Given the description of an element on the screen output the (x, y) to click on. 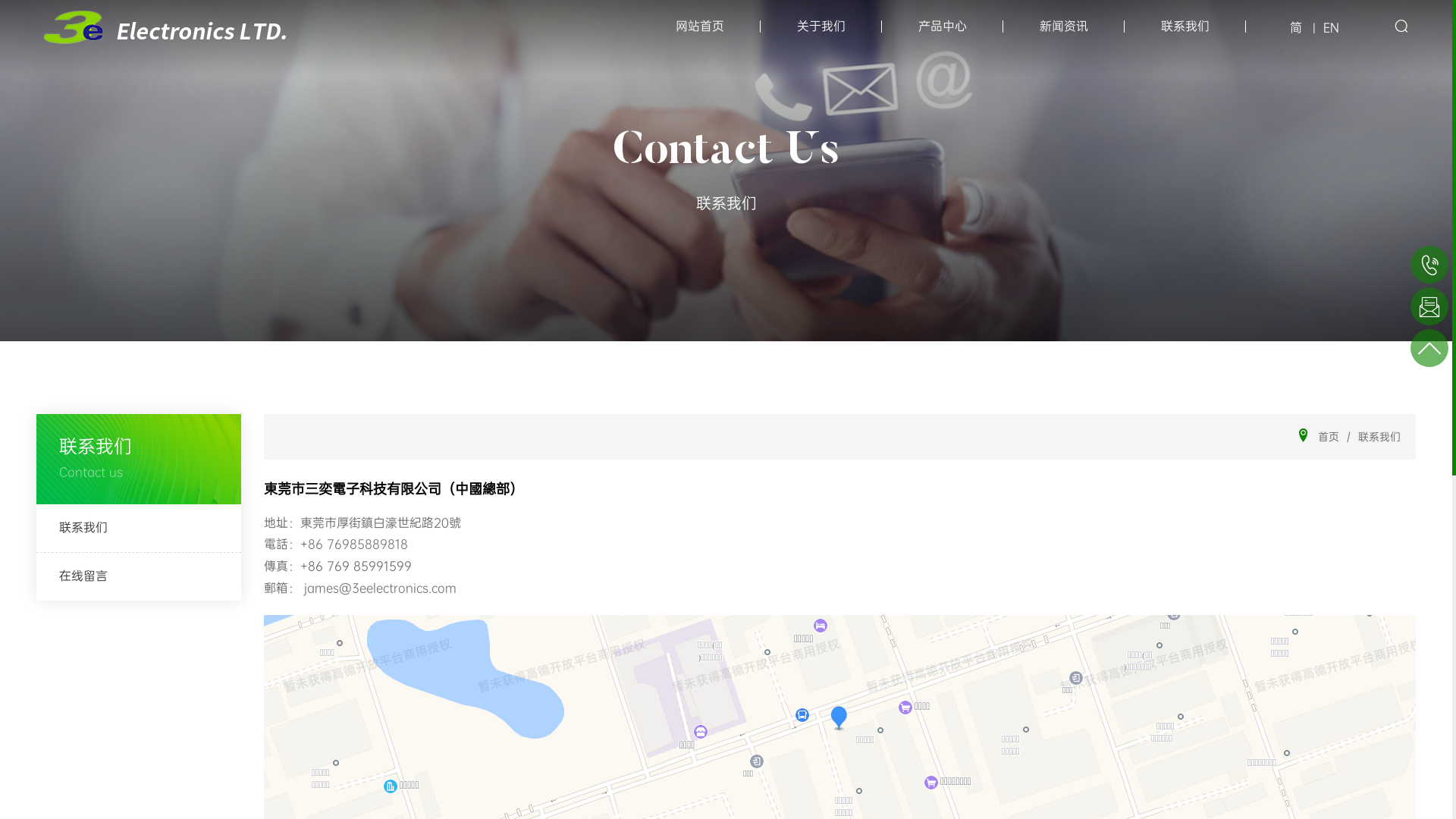
 james@3eelectronics.com Element type: text (378, 588)
86 76985889818 Element type: text (357, 544)
EN Element type: text (1331, 28)
